Given the description of an element on the screen output the (x, y) to click on. 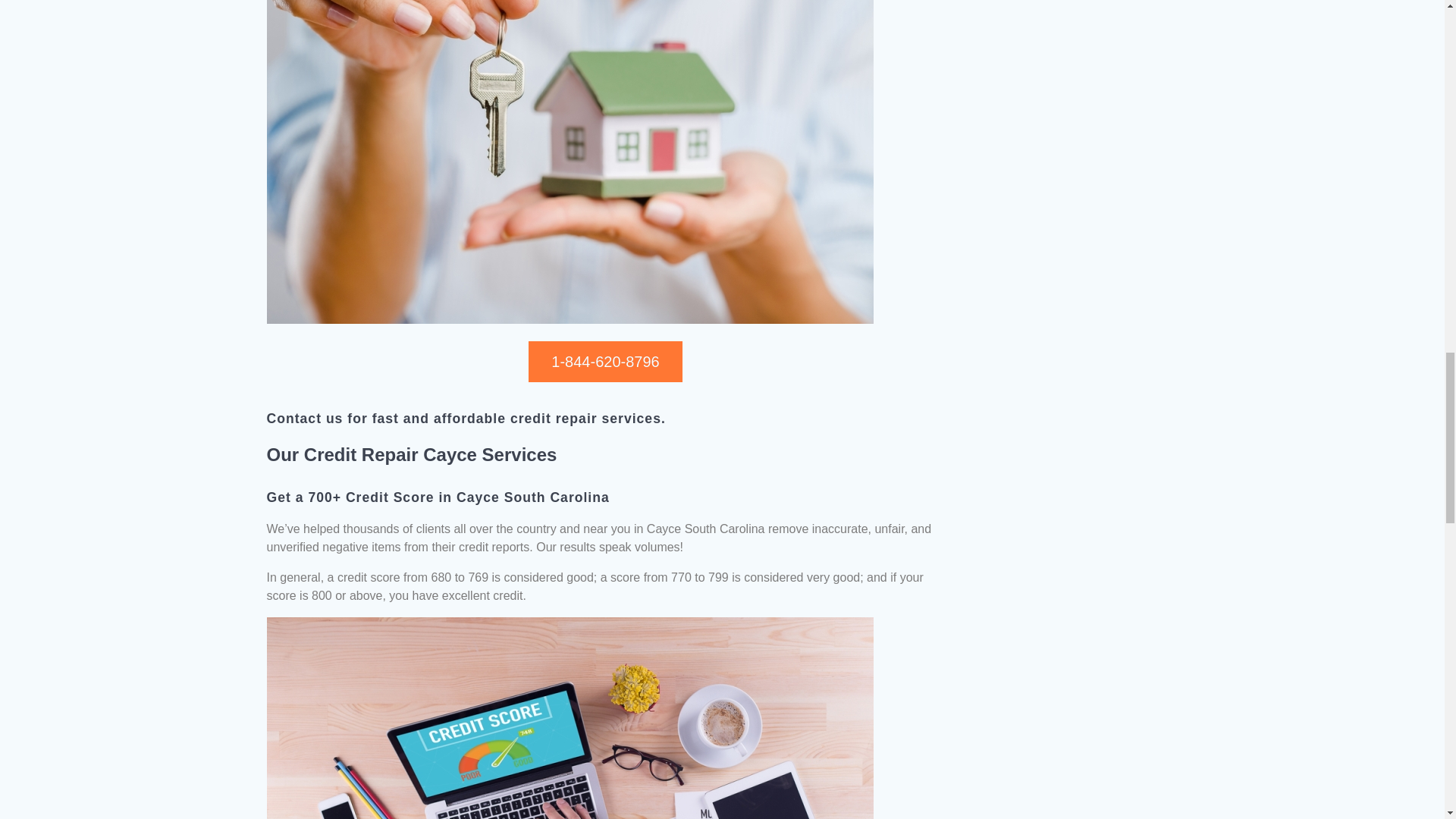
1-844-620-8796 (604, 361)
